Given the description of an element on the screen output the (x, y) to click on. 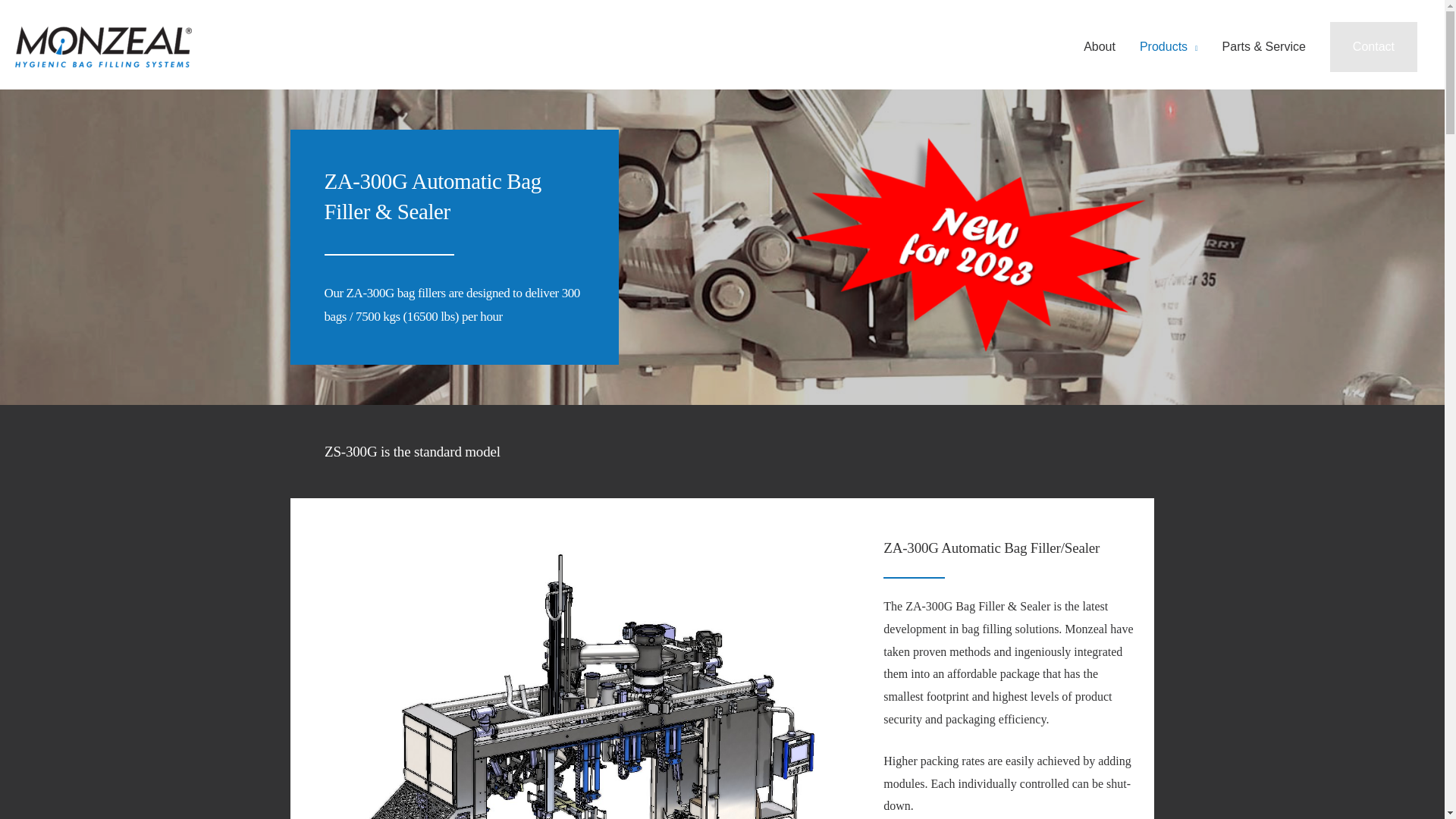
About (1098, 47)
Products (1167, 47)
